Given the description of an element on the screen output the (x, y) to click on. 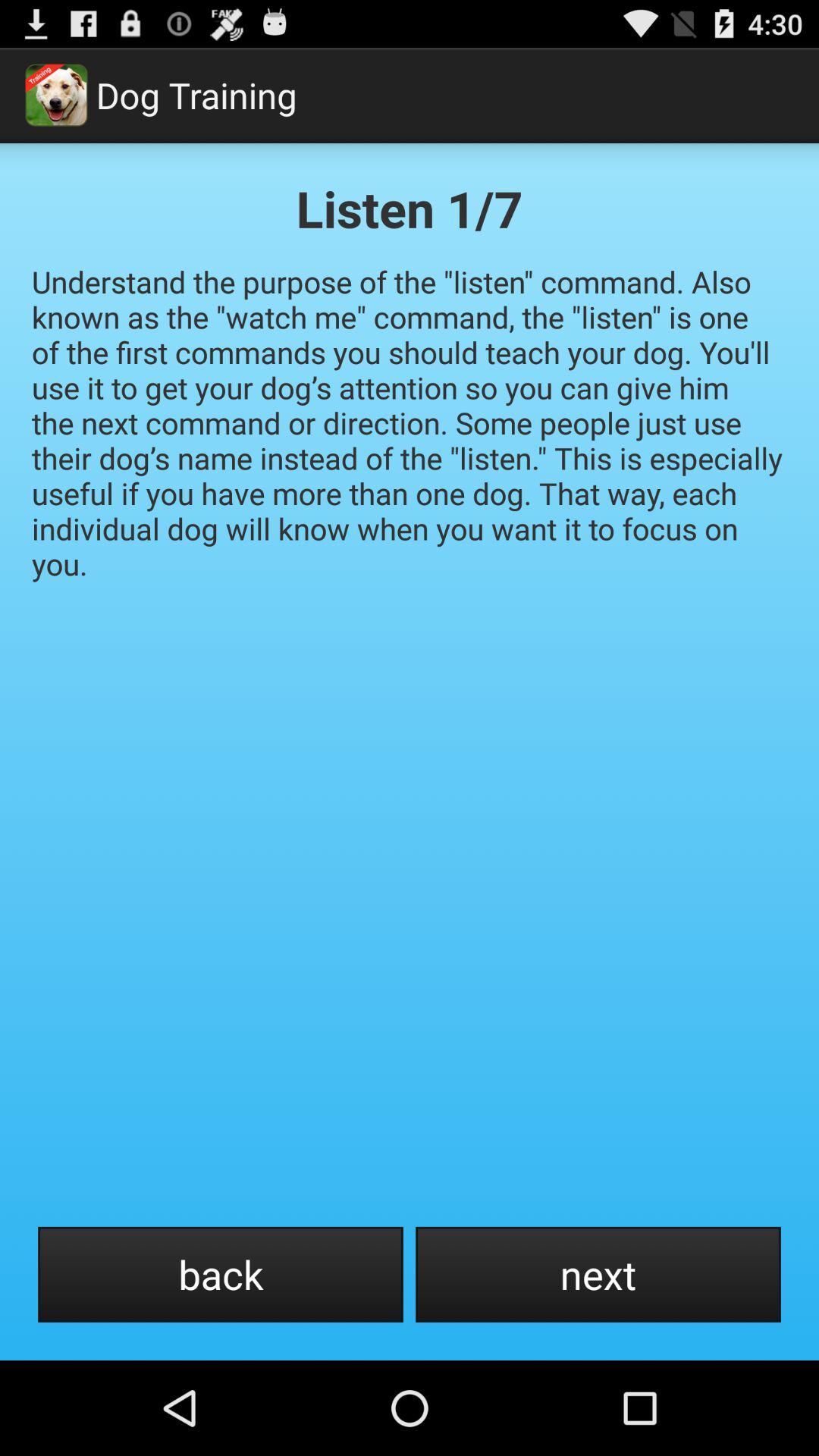
turn on the back icon (220, 1274)
